Given the description of an element on the screen output the (x, y) to click on. 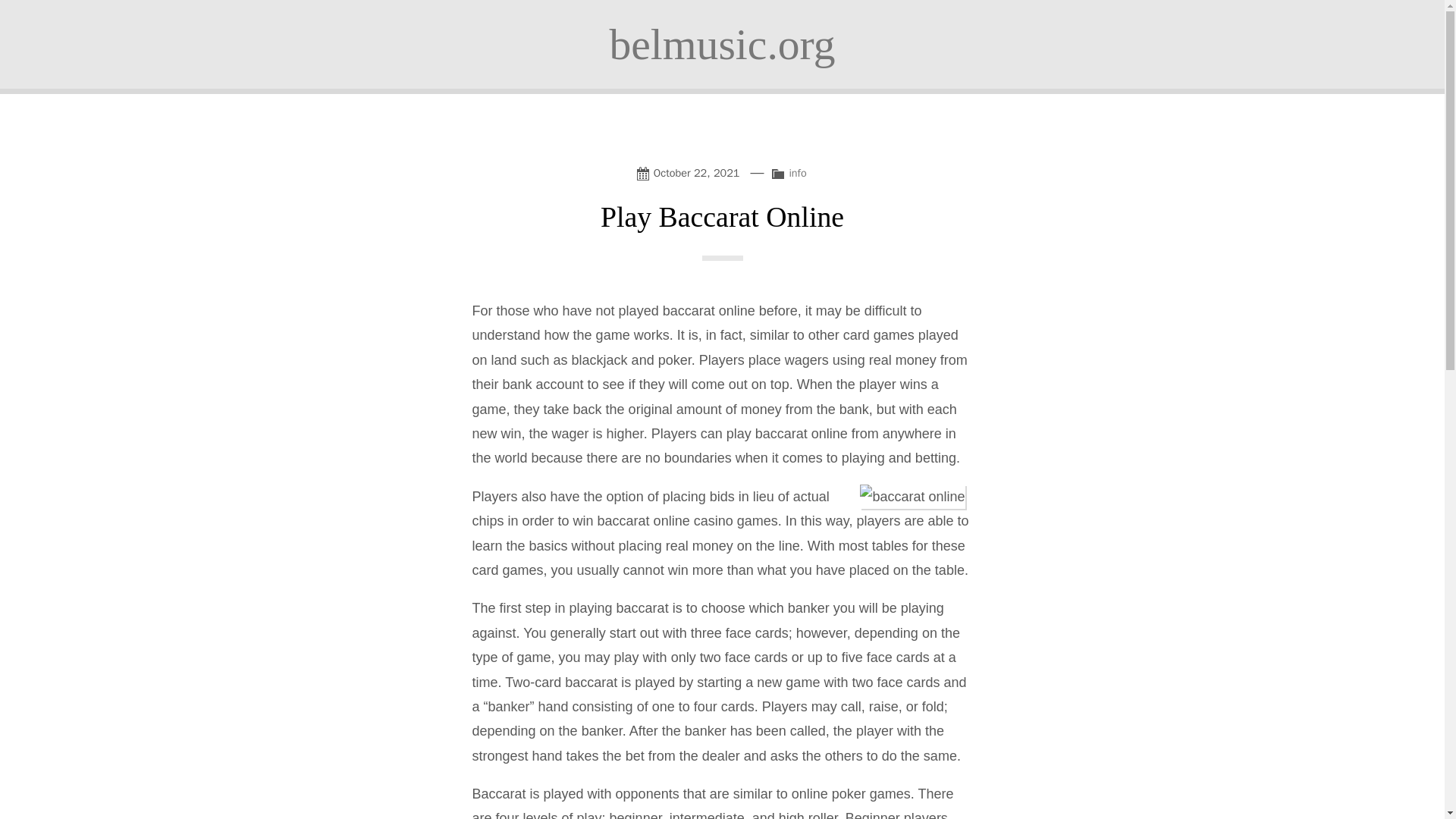
info (797, 172)
belmusic.org (721, 43)
